Given the description of an element on the screen output the (x, y) to click on. 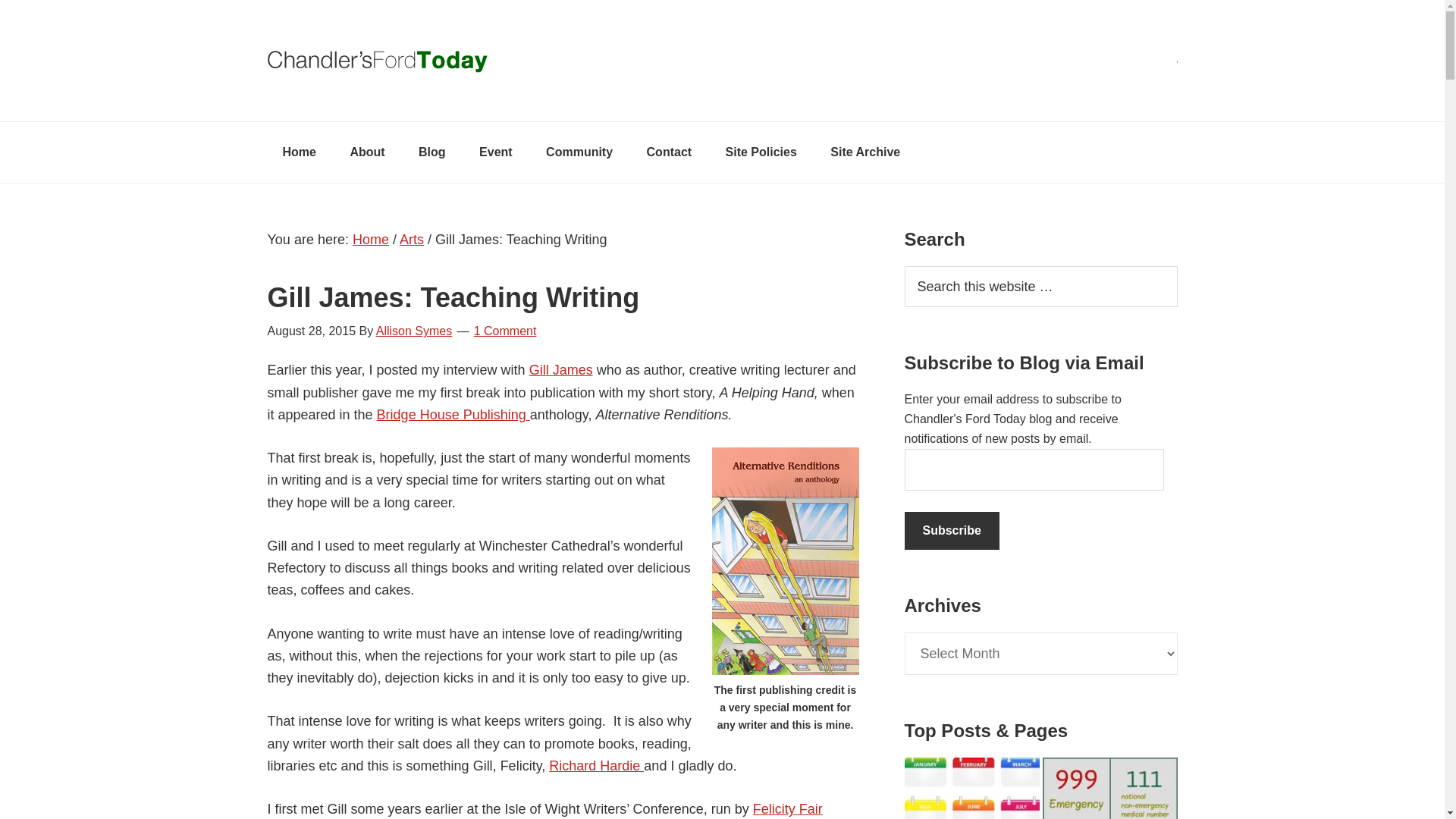
Contact (669, 152)
Community (579, 152)
Site Archive (865, 152)
Allison Symes (413, 330)
Richard Hardie (595, 765)
Home (370, 239)
Subscribe (951, 530)
About (366, 152)
Chandler's Ford Today (721, 60)
